Given the description of an element on the screen output the (x, y) to click on. 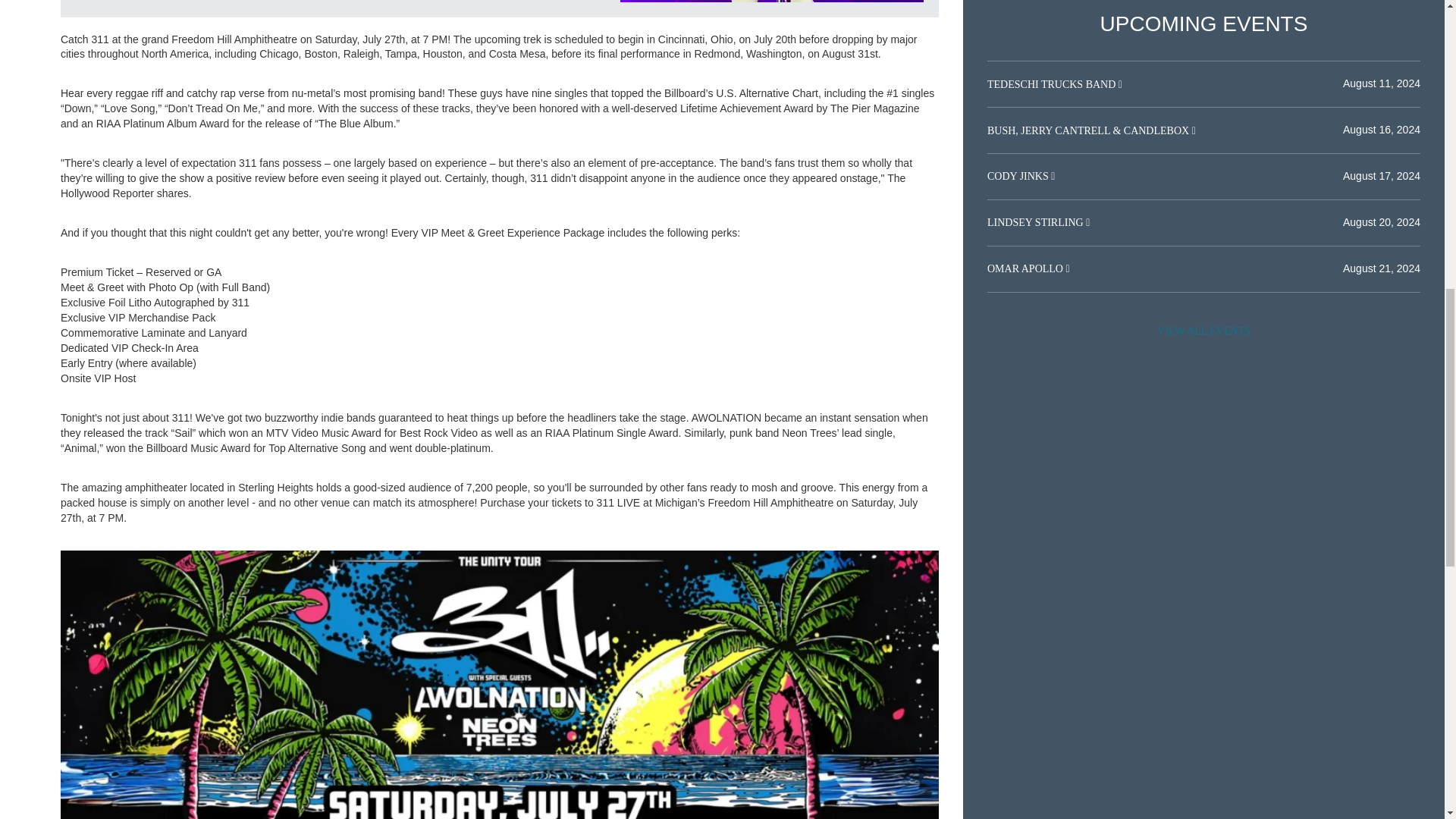
CODY JINKS (1019, 175)
TEDESCHI TRUCKS BAND (1052, 84)
OMAR APOLLO (1026, 268)
LINDSEY STIRLING (1036, 222)
VIEW ALL EVENTS (1203, 330)
